Given the description of an element on the screen output the (x, y) to click on. 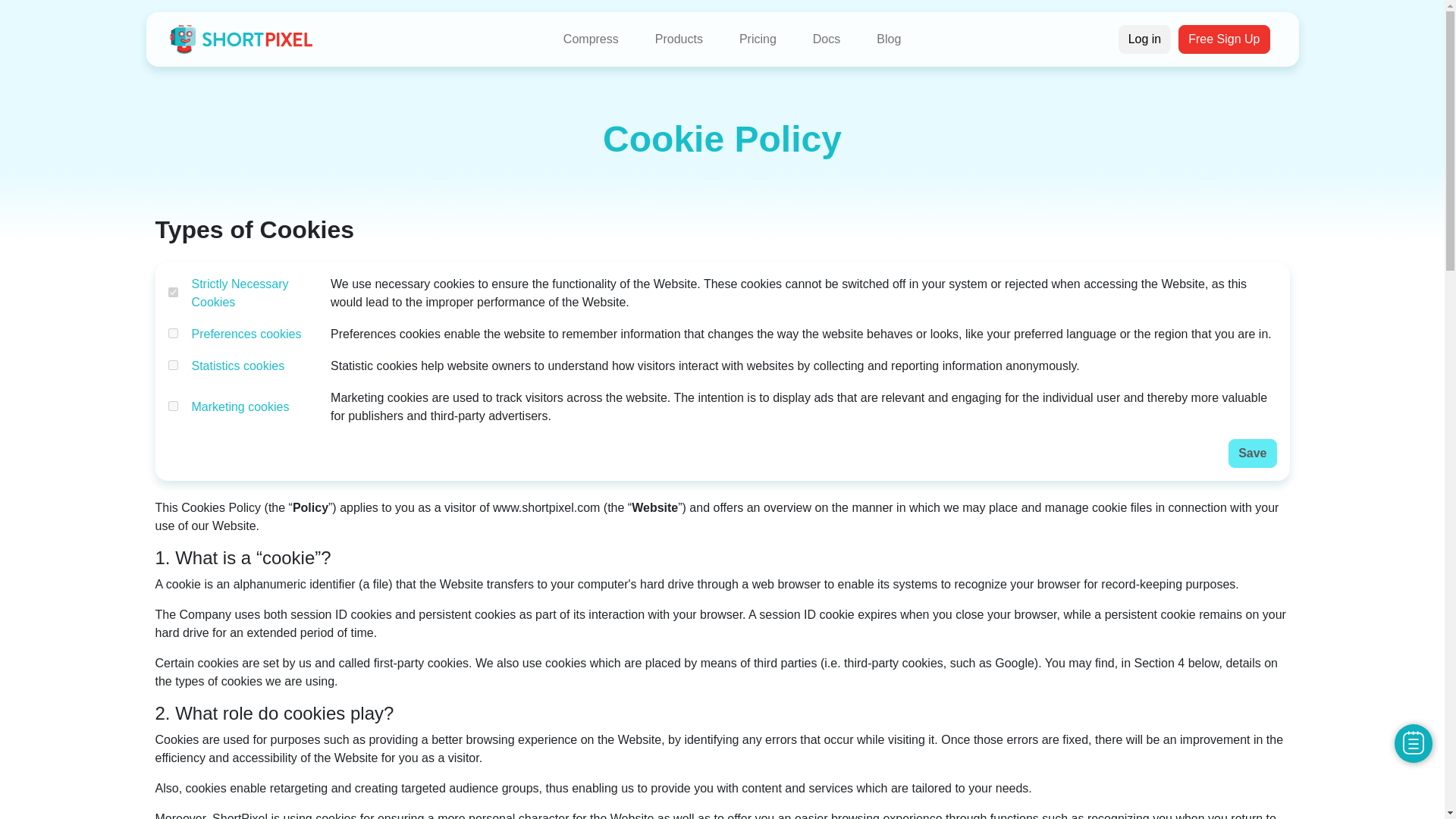
Blog (888, 39)
Statistics cookies (236, 365)
Products (679, 39)
Free Sign Up (1223, 39)
Log in (1145, 39)
Save (1252, 452)
Strictly Necessary Cookies (239, 292)
8 (172, 406)
on (172, 292)
Docs (825, 39)
